Given the description of an element on the screen output the (x, y) to click on. 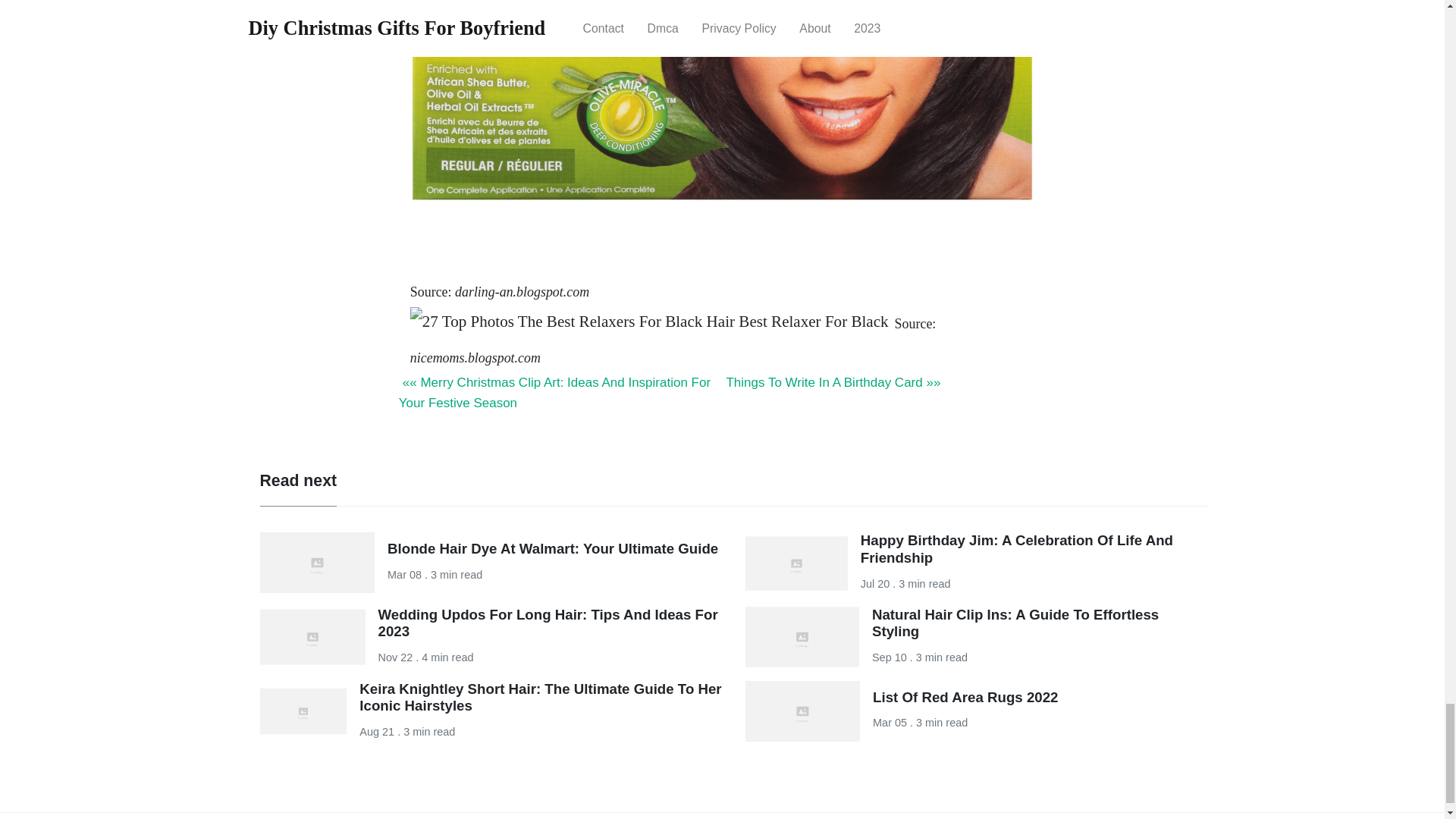
Happy Birthday Jim: A Celebration Of Life And Friendship (1016, 548)
Wedding Updos For Long Hair: Tips And Ideas For 2023 (547, 622)
Blonde Hair Dye At Walmart: Your Ultimate Guide (552, 548)
List Of Red Area Rugs 2022 (965, 697)
Natural Hair Clip Ins: A Guide To Effortless Styling (1015, 622)
